Given the description of an element on the screen output the (x, y) to click on. 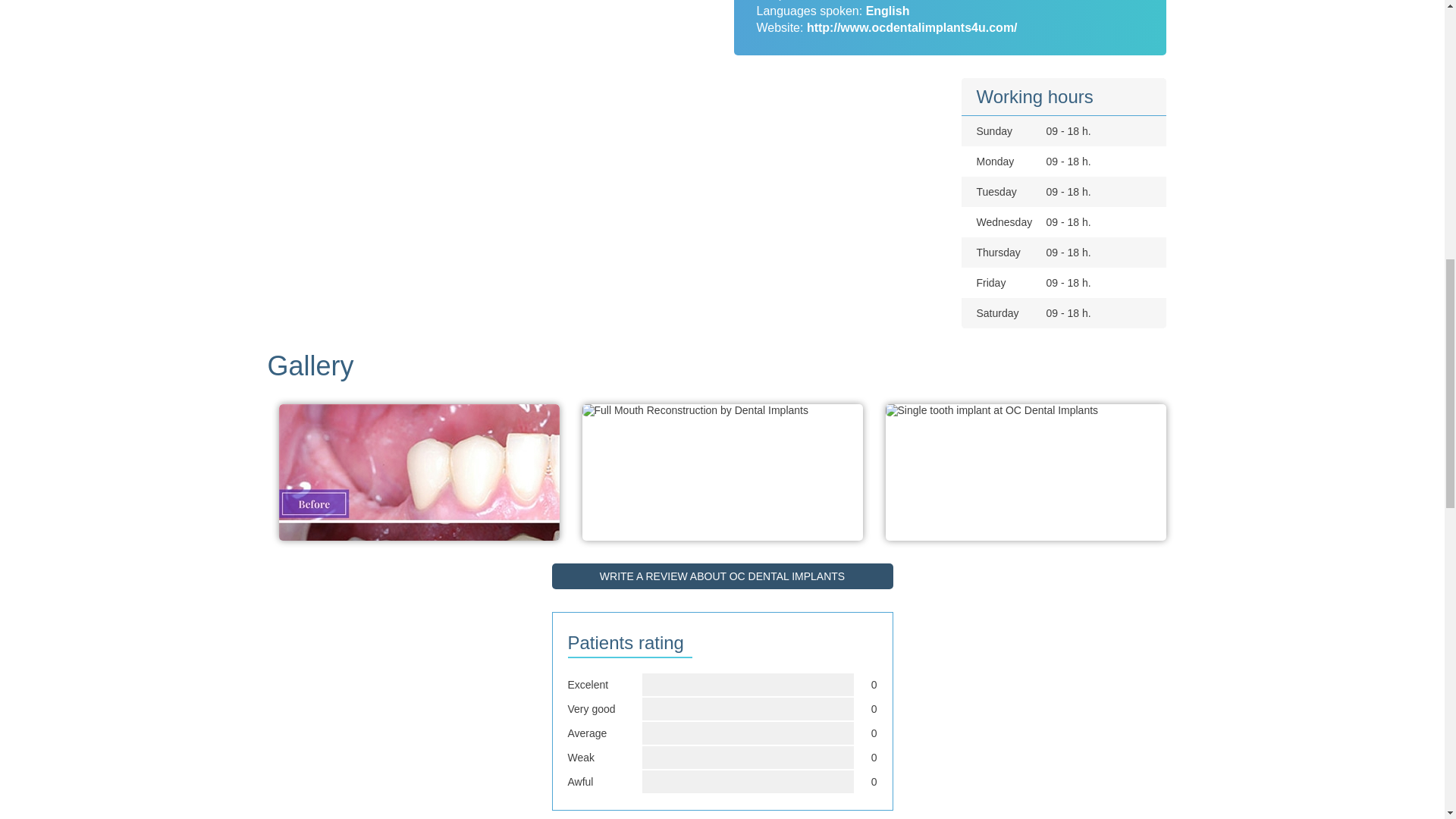
Treatment for Missing Teeth (419, 521)
WRITE A REVIEW ABOUT OC DENTAL IMPLANTS (722, 575)
Full Mouth Reconstruction by Dental Implants (695, 410)
Single tooth implant at OC Dental Implants (992, 410)
